Given the description of an element on the screen output the (x, y) to click on. 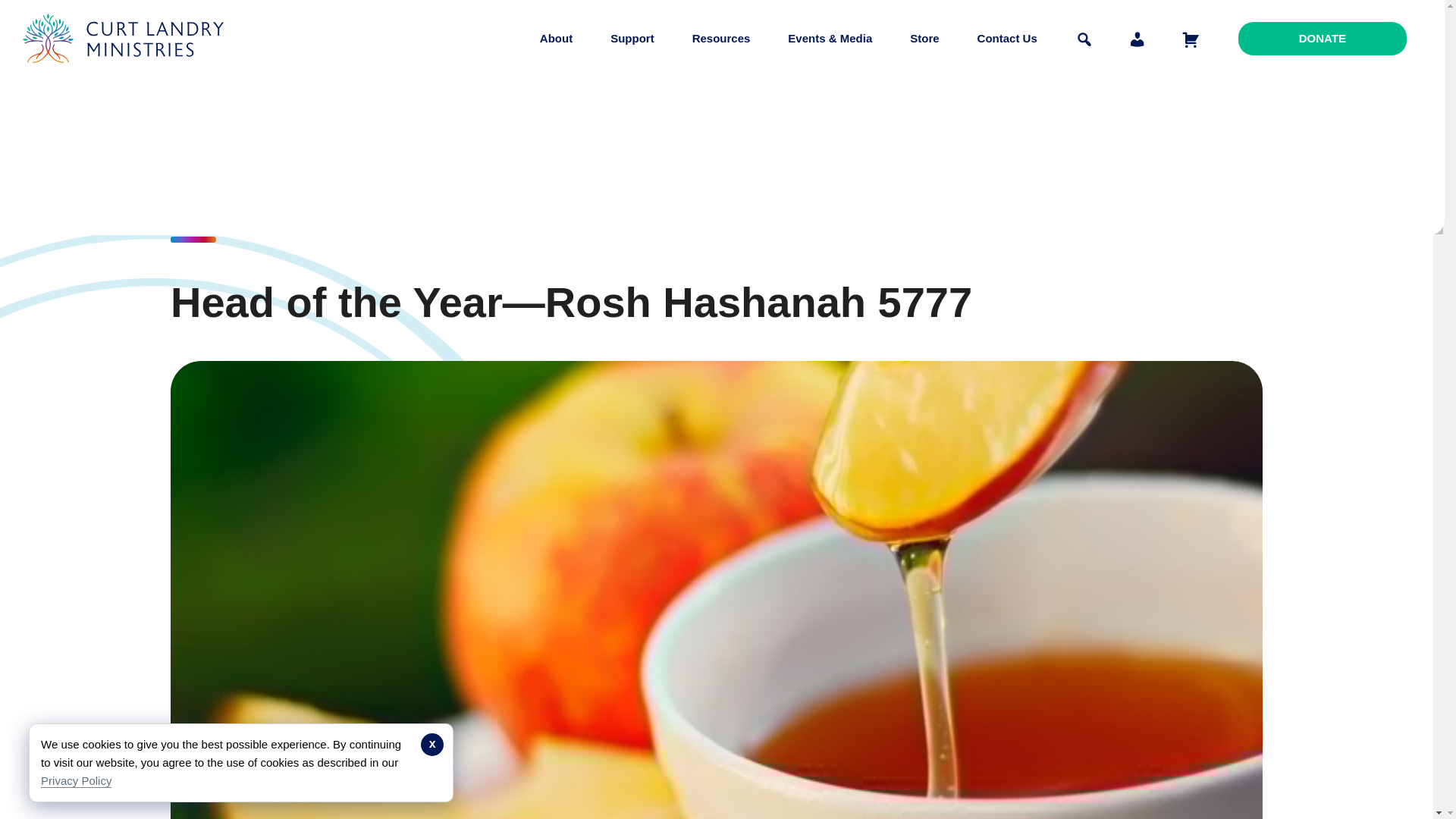
Resources (721, 38)
Support (631, 38)
About (556, 38)
Store (924, 38)
Curt Landry Ministries (127, 74)
